Given the description of an element on the screen output the (x, y) to click on. 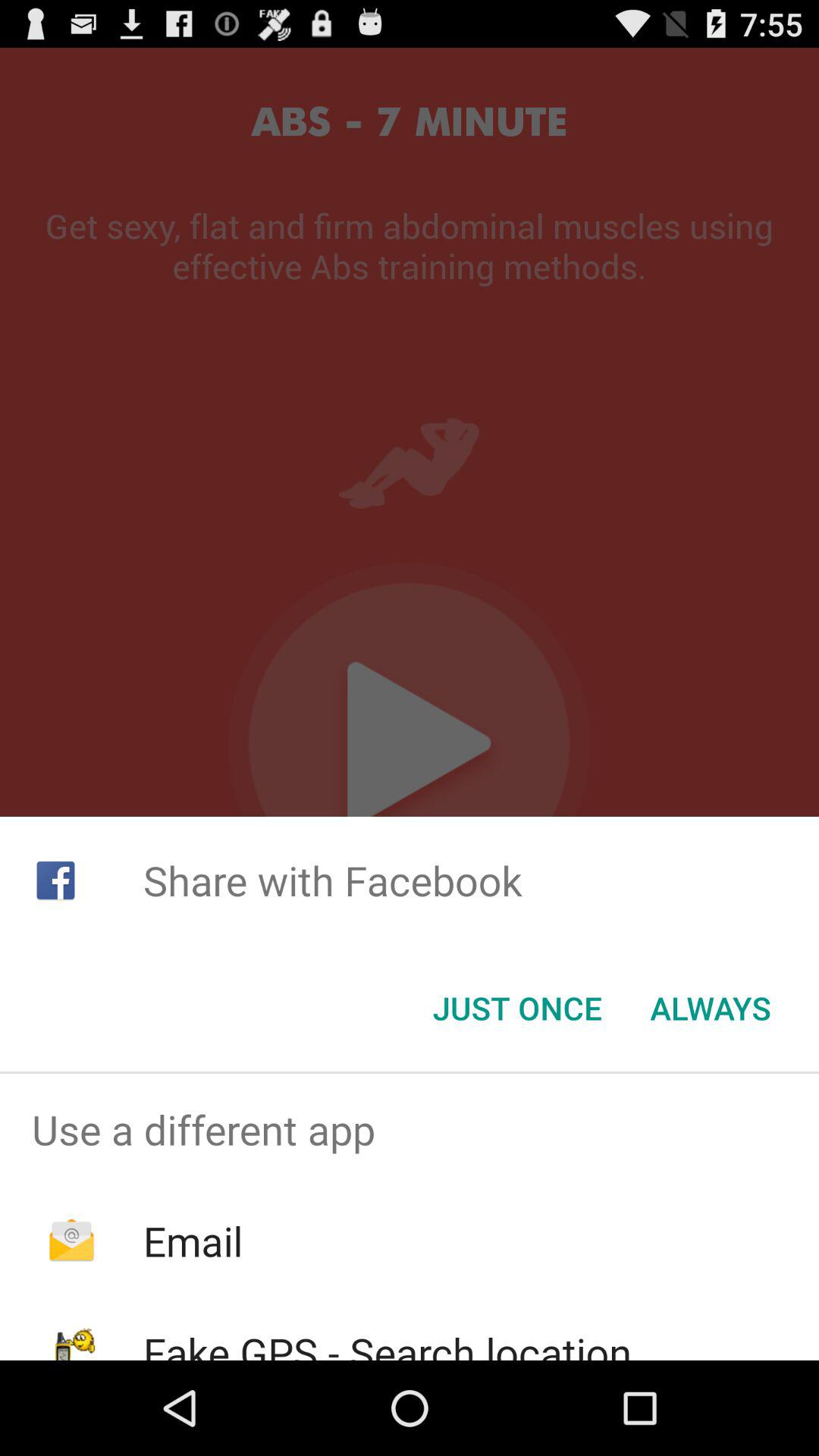
scroll to the just once button (517, 1007)
